Given the description of an element on the screen output the (x, y) to click on. 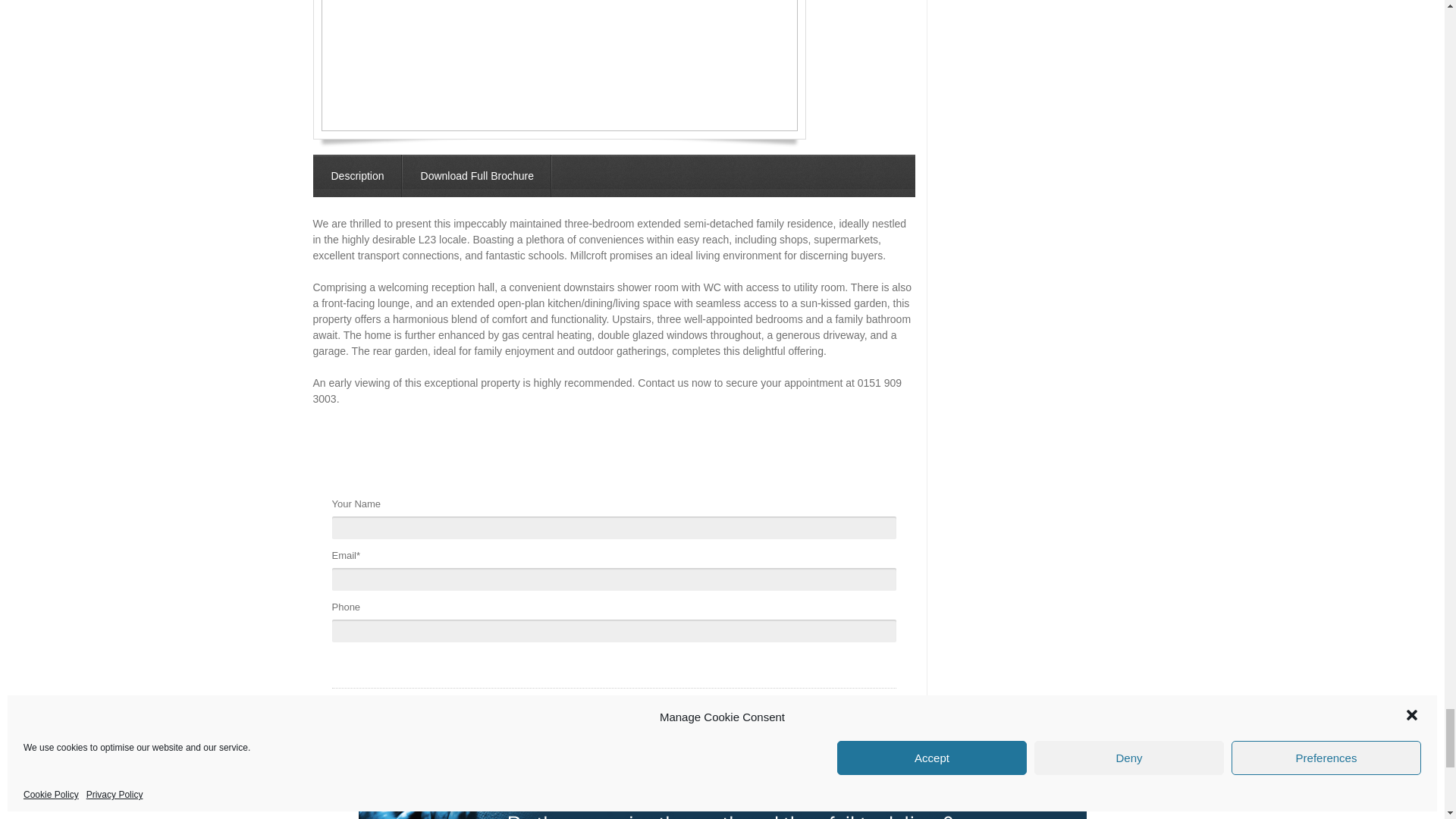
Send Request (375, 714)
Description (357, 175)
Send Request (375, 714)
Download Full Brochure (477, 175)
